Given the description of an element on the screen output the (x, y) to click on. 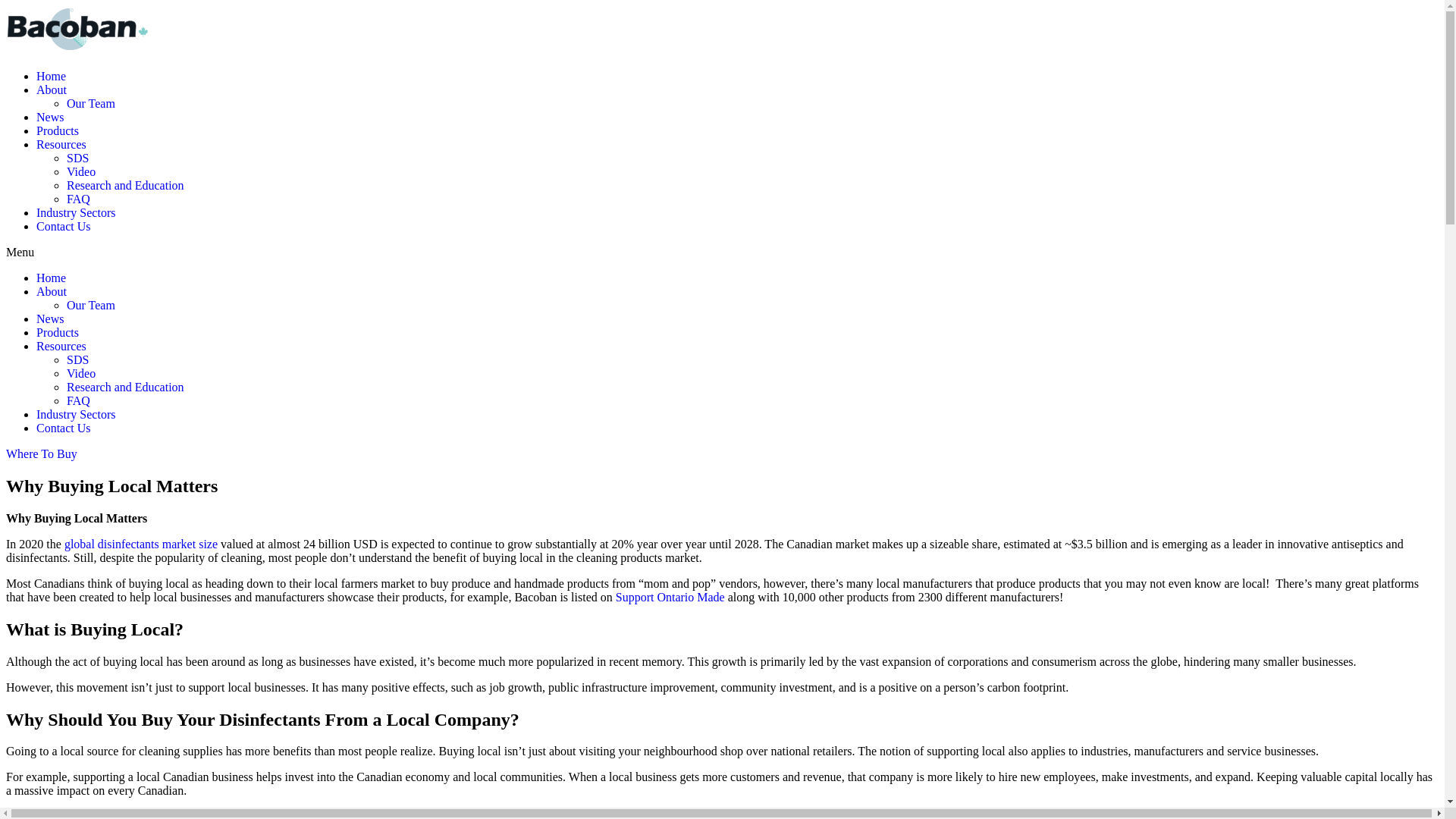
Video Element type: text (80, 171)
Industry Sectors Element type: text (75, 413)
News Element type: text (49, 116)
FAQ Element type: text (78, 400)
global disinfectants market size Element type: text (140, 543)
Products Element type: text (57, 130)
Products Element type: text (57, 332)
Industry Sectors Element type: text (75, 212)
Where To Buy Element type: text (41, 453)
Our Team Element type: text (90, 103)
Our Team Element type: text (90, 304)
Resources Element type: text (61, 345)
SDS Element type: text (77, 359)
Home Element type: text (50, 75)
FAQ Element type: text (78, 198)
Video Element type: text (80, 373)
Support Ontario Made Element type: text (669, 596)
Research and Education Element type: text (125, 184)
SDS Element type: text (77, 157)
Research and Education Element type: text (125, 386)
About Element type: text (51, 89)
About Element type: text (51, 291)
Resources Element type: text (61, 144)
Home Element type: text (50, 277)
Contact Us Element type: text (63, 427)
Contact Us Element type: text (63, 225)
News Element type: text (49, 318)
